Given the description of an element on the screen output the (x, y) to click on. 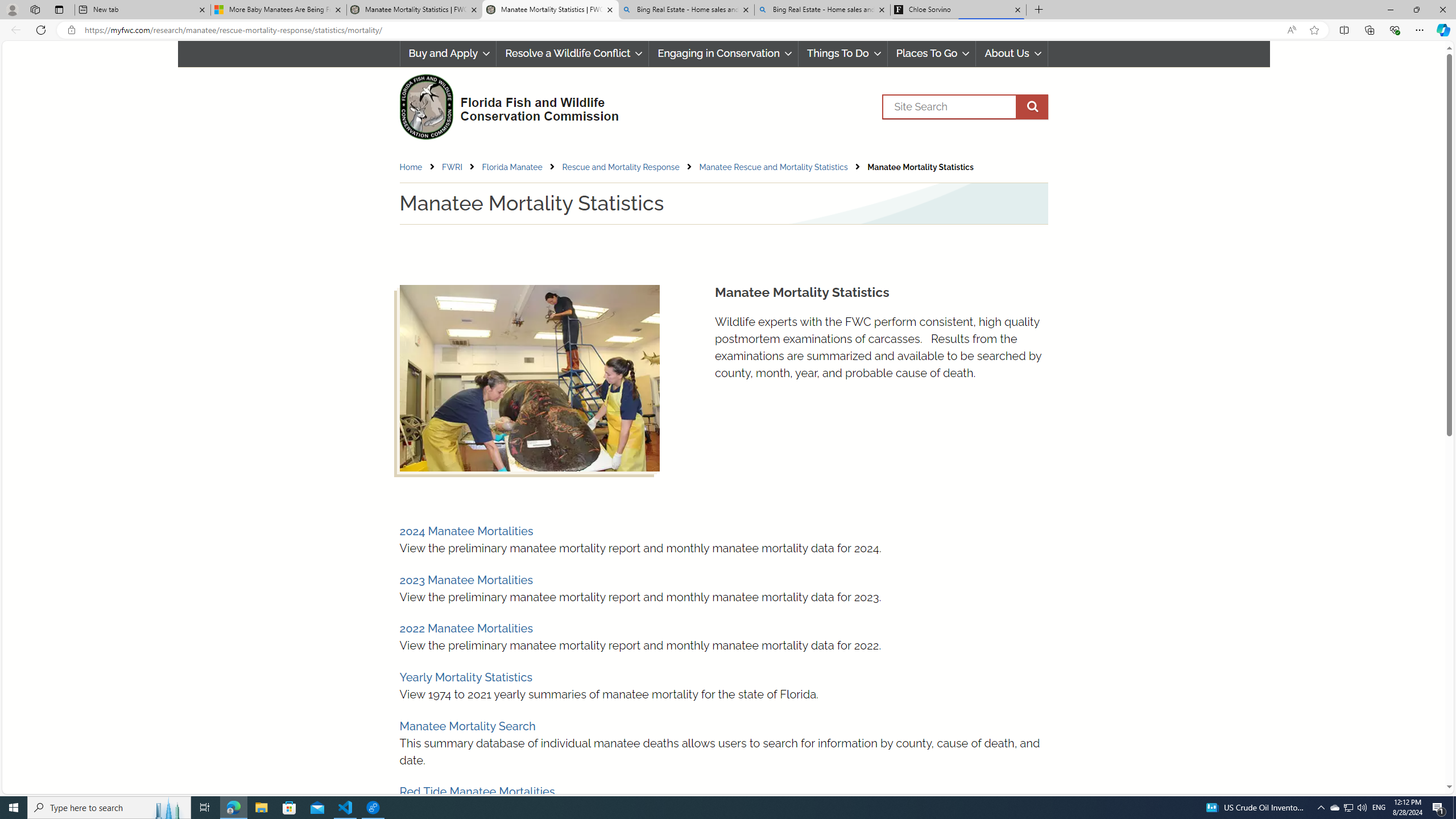
Things To Do (841, 53)
Engaging in Conservation (723, 53)
Manatee Necropsy (528, 377)
App bar (728, 29)
Florida Manatee (512, 166)
Things To Do (842, 53)
Rescue and Mortality Response (620, 166)
Buy and Apply (447, 53)
